Given the description of an element on the screen output the (x, y) to click on. 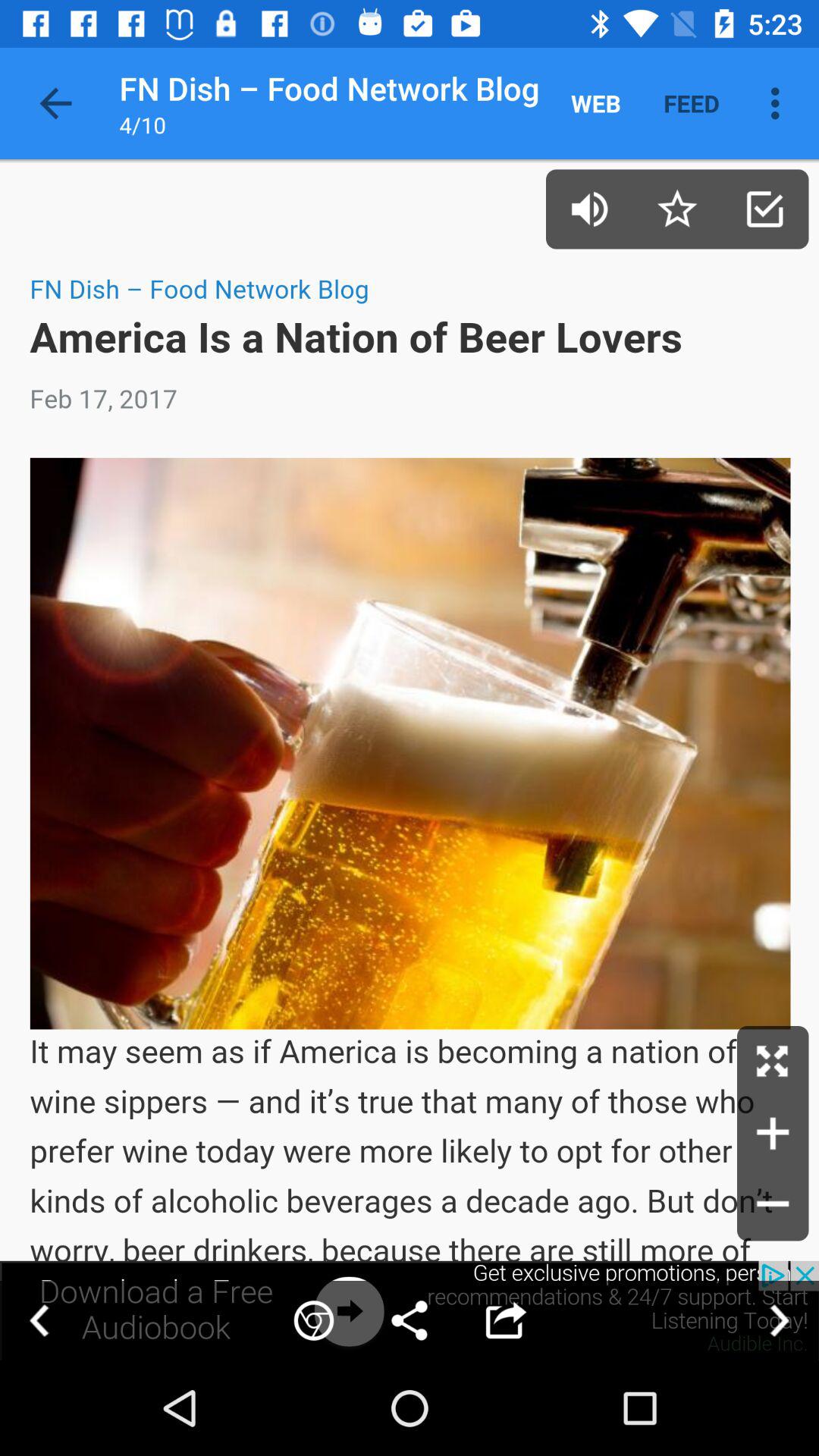
sount (589, 209)
